Given the description of an element on the screen output the (x, y) to click on. 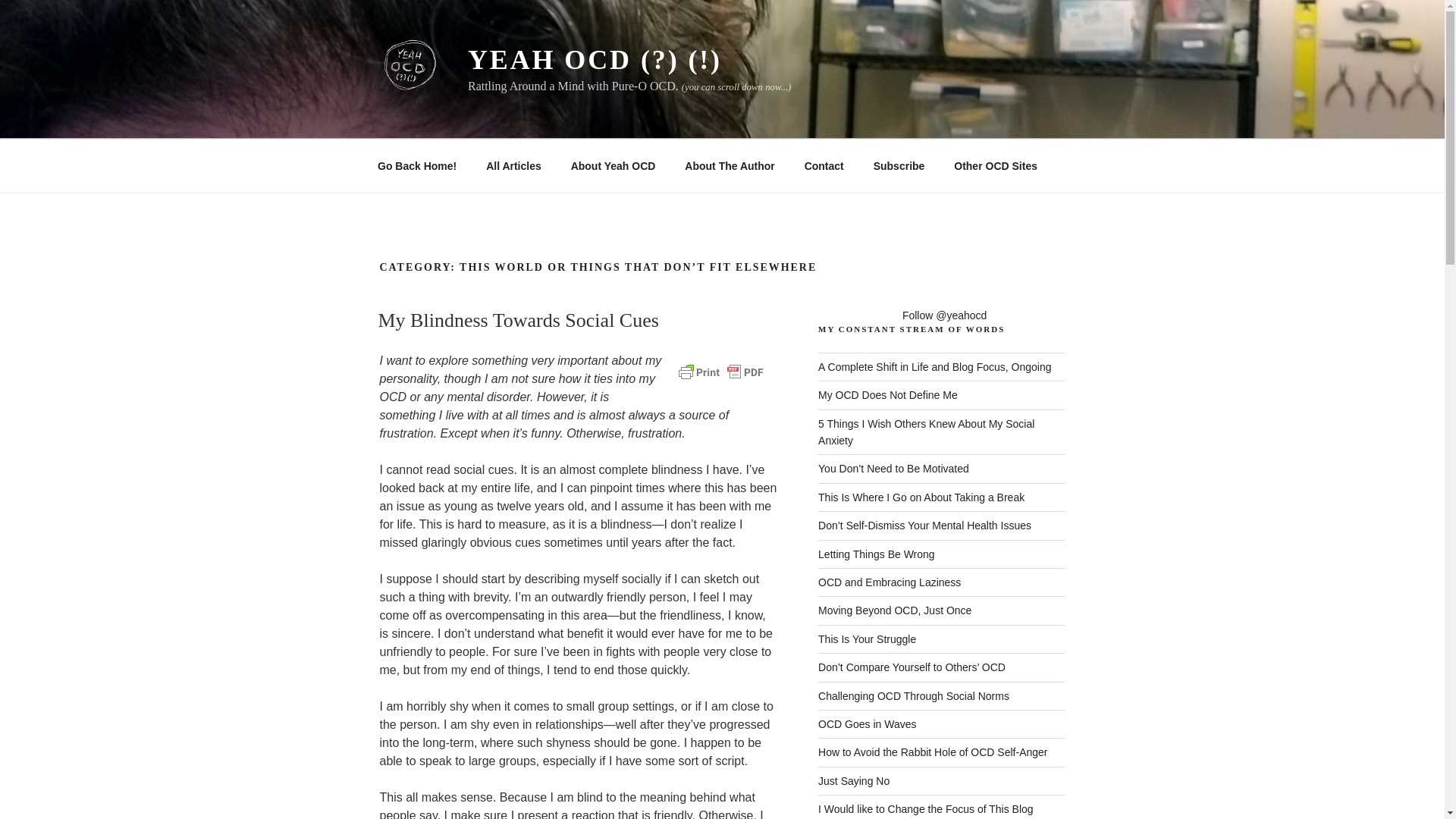
Letting Things Be Wrong (876, 553)
Other OCD Sites (995, 165)
OCD and Embracing Laziness (889, 582)
This Is Where I Go on About Taking a Break (921, 497)
My Blindness Towards Social Cues (517, 320)
5 Things I Wish Others Knew About My Social Anxiety (925, 431)
About The Author (729, 165)
A Complete Shift in Life and Blog Focus, Ongoing (934, 367)
Go Back Home! (416, 165)
Subscribe (898, 165)
Moving Beyond OCD, Just Once (894, 610)
My OCD Does Not Define Me (888, 395)
This Is Your Struggle (866, 639)
All Articles (513, 165)
About Yeah OCD (612, 165)
